Given the description of an element on the screen output the (x, y) to click on. 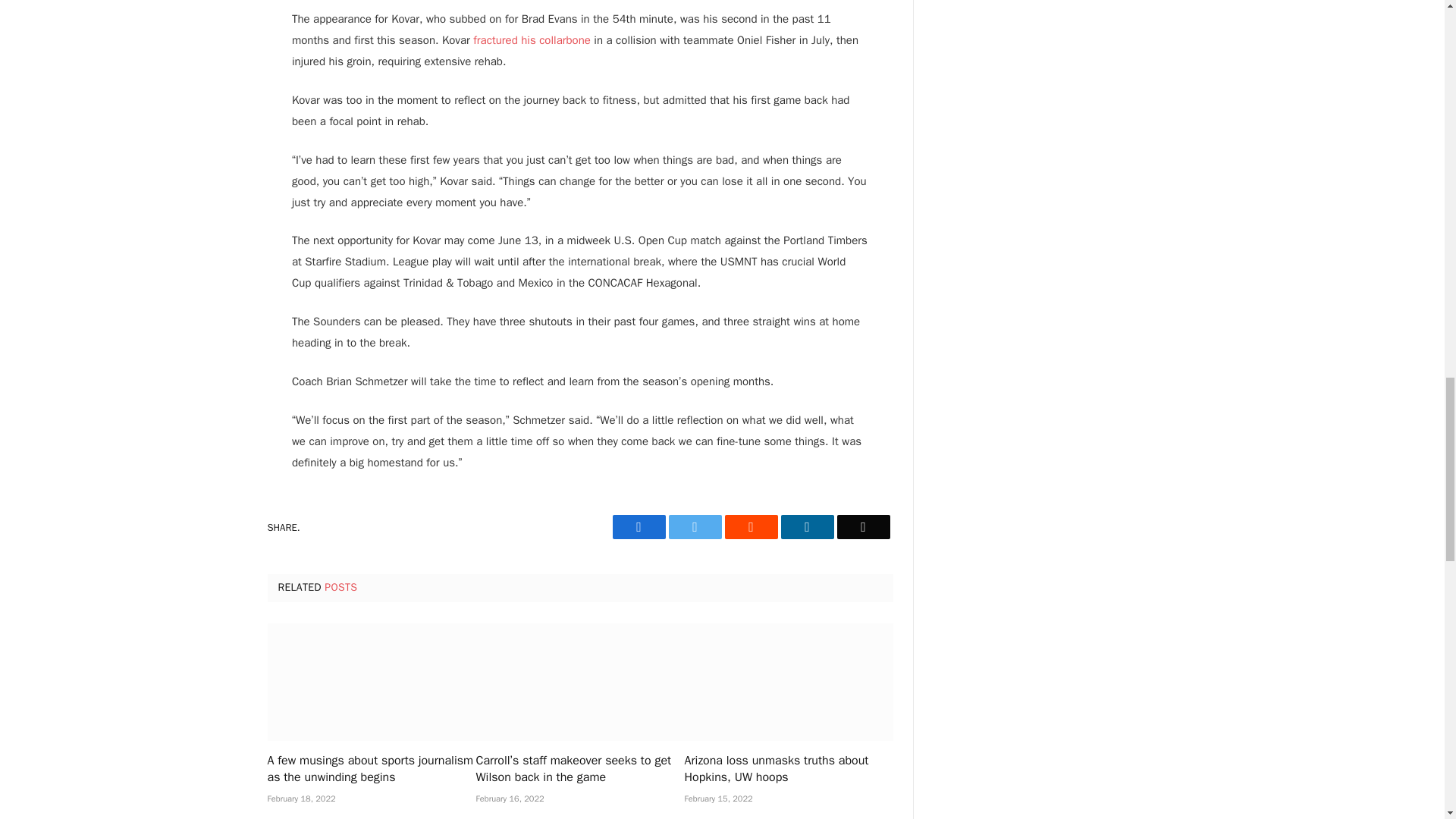
Facebook (638, 526)
fractured his collarbone (532, 39)
Email (863, 526)
LinkedIn (807, 526)
Reddit (751, 526)
Twitter (695, 526)
